Given the description of an element on the screen output the (x, y) to click on. 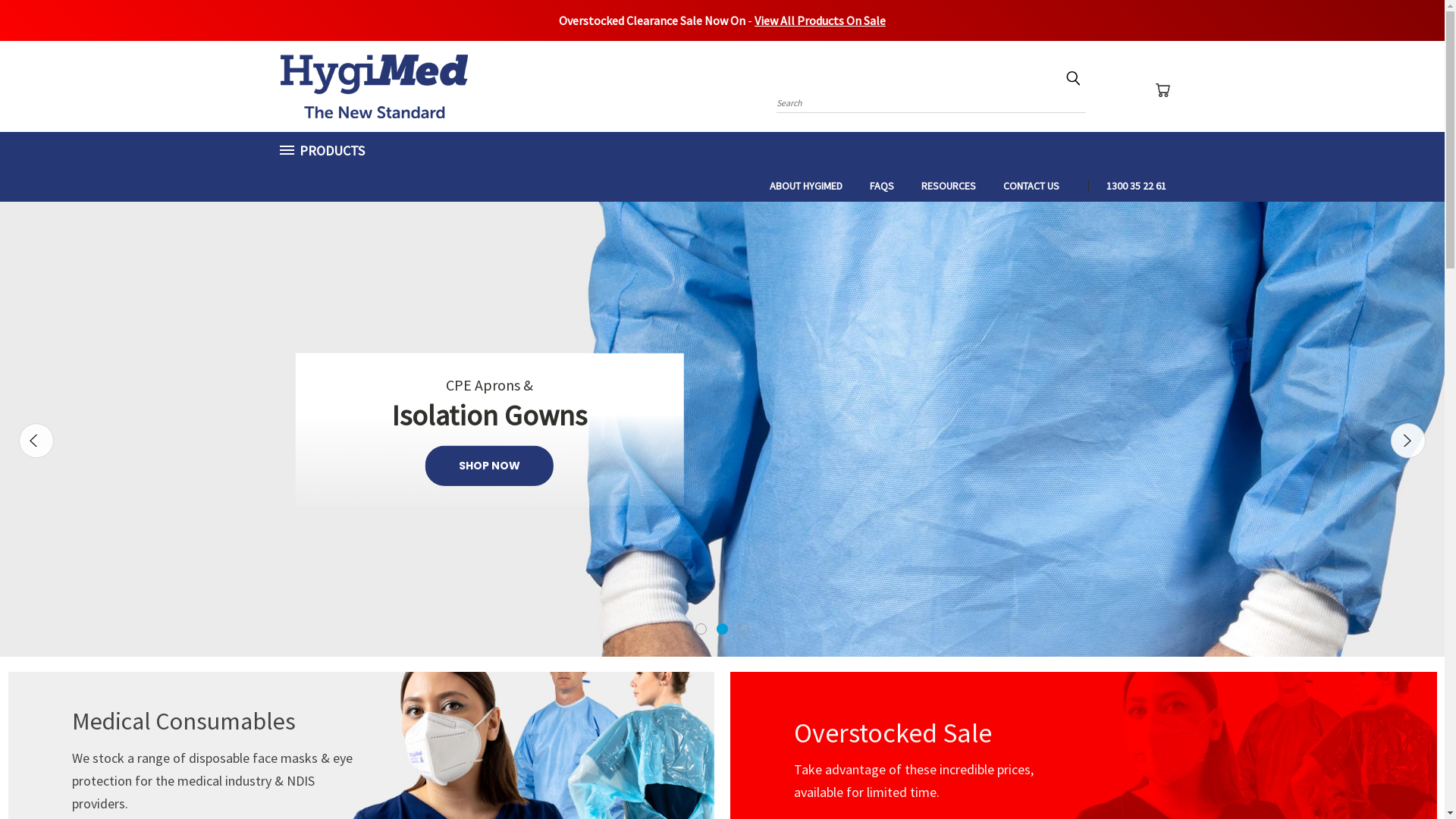
hero-prev-arrow Element type: text (35, 440)
PRODUCTS Element type: text (328, 150)
RESOURCES Element type: text (948, 184)
FAQS Element type: text (881, 184)
ABOUT HYGIMED Element type: text (806, 184)
CPE Aprons &
Isolation Gowns
SHOP NOW Element type: text (722, 428)
View All Products On Sale Element type: text (819, 20)
Hygimed Australia Element type: hover (373, 86)
1300 35 22 61 Element type: text (1128, 184)
CONTACT US Element type: text (1031, 184)
Submit Search Element type: hover (1072, 77)
hero-next-arrow Element type: text (1407, 440)
